Given the description of an element on the screen output the (x, y) to click on. 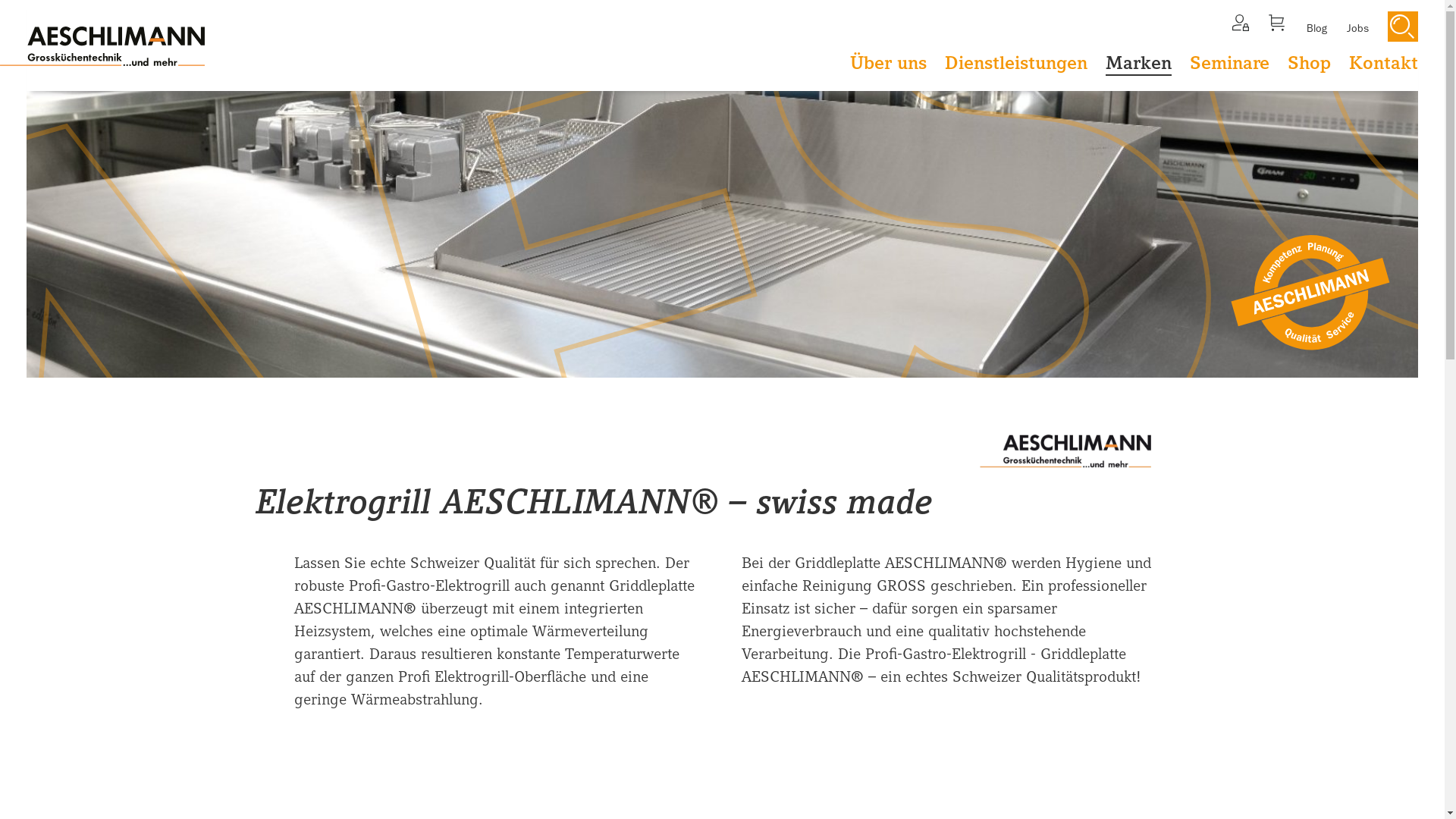
Dienstleistungen Element type: text (1015, 63)
Shop Element type: text (1308, 63)
Marken Element type: text (1138, 63)
GO Element type: text (1402, 26)
Blog Element type: text (1325, 27)
Kontakt Element type: text (1383, 63)
Seminare Element type: text (1229, 63)
Aeschlimann Logo Element type: hover (102, 45)
Jobs Element type: text (1366, 27)
